Given the description of an element on the screen output the (x, y) to click on. 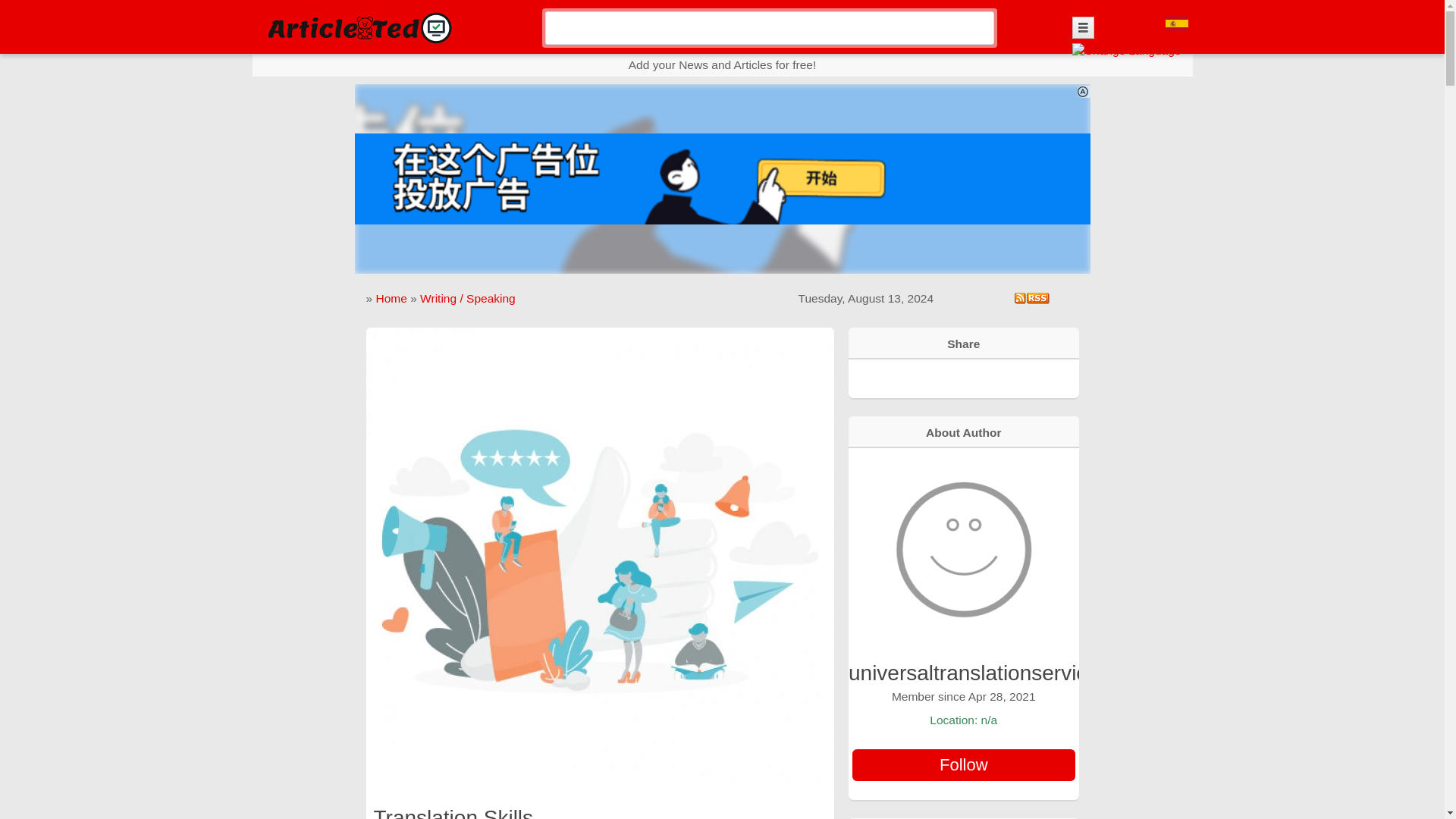
Change Language (1125, 50)
ArticleTed -  News and Articles (357, 27)
Home (390, 297)
Follow (963, 765)
